Given the description of an element on the screen output the (x, y) to click on. 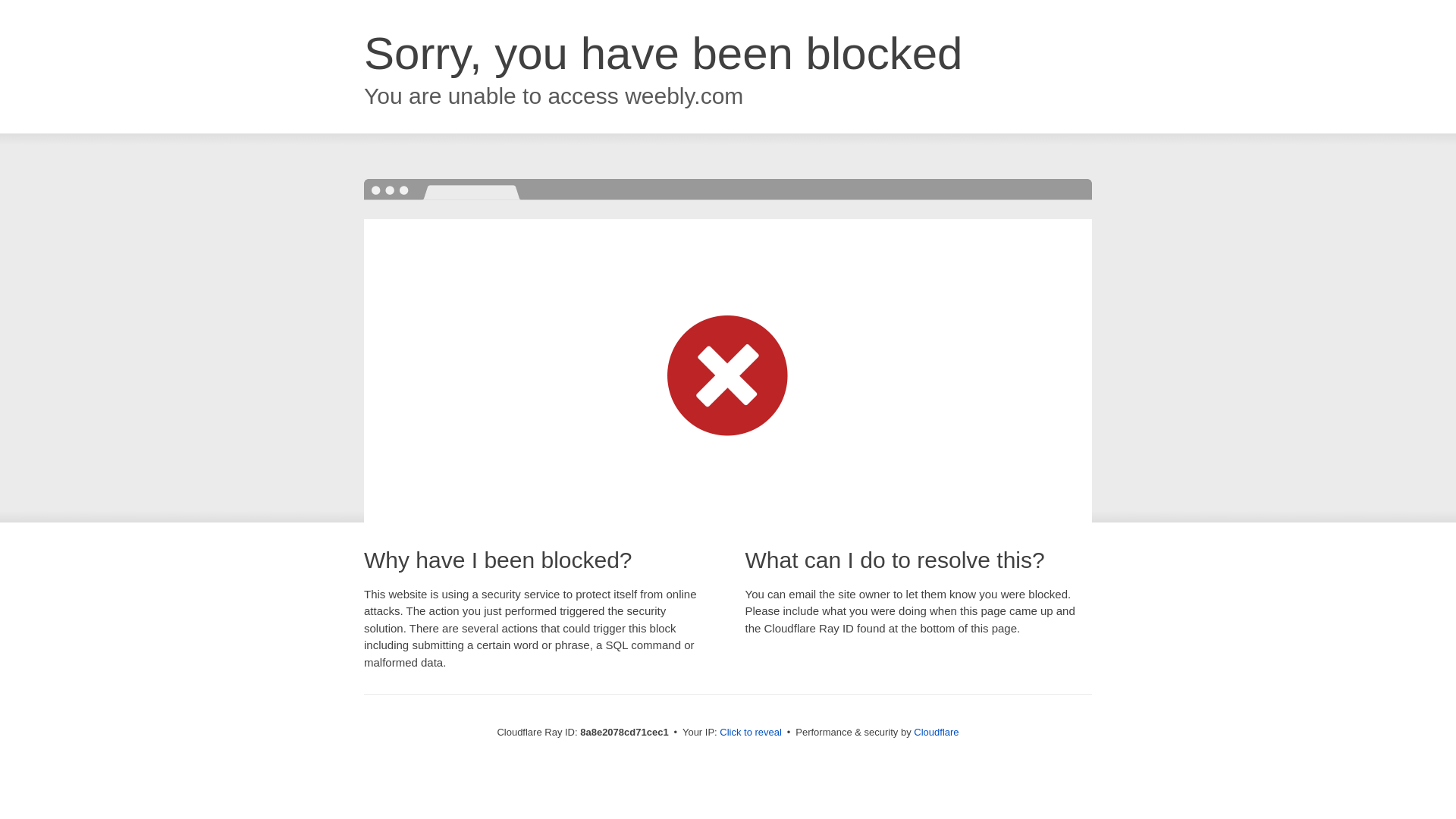
Cloudflare (936, 731)
Click to reveal (750, 732)
